Given the description of an element on the screen output the (x, y) to click on. 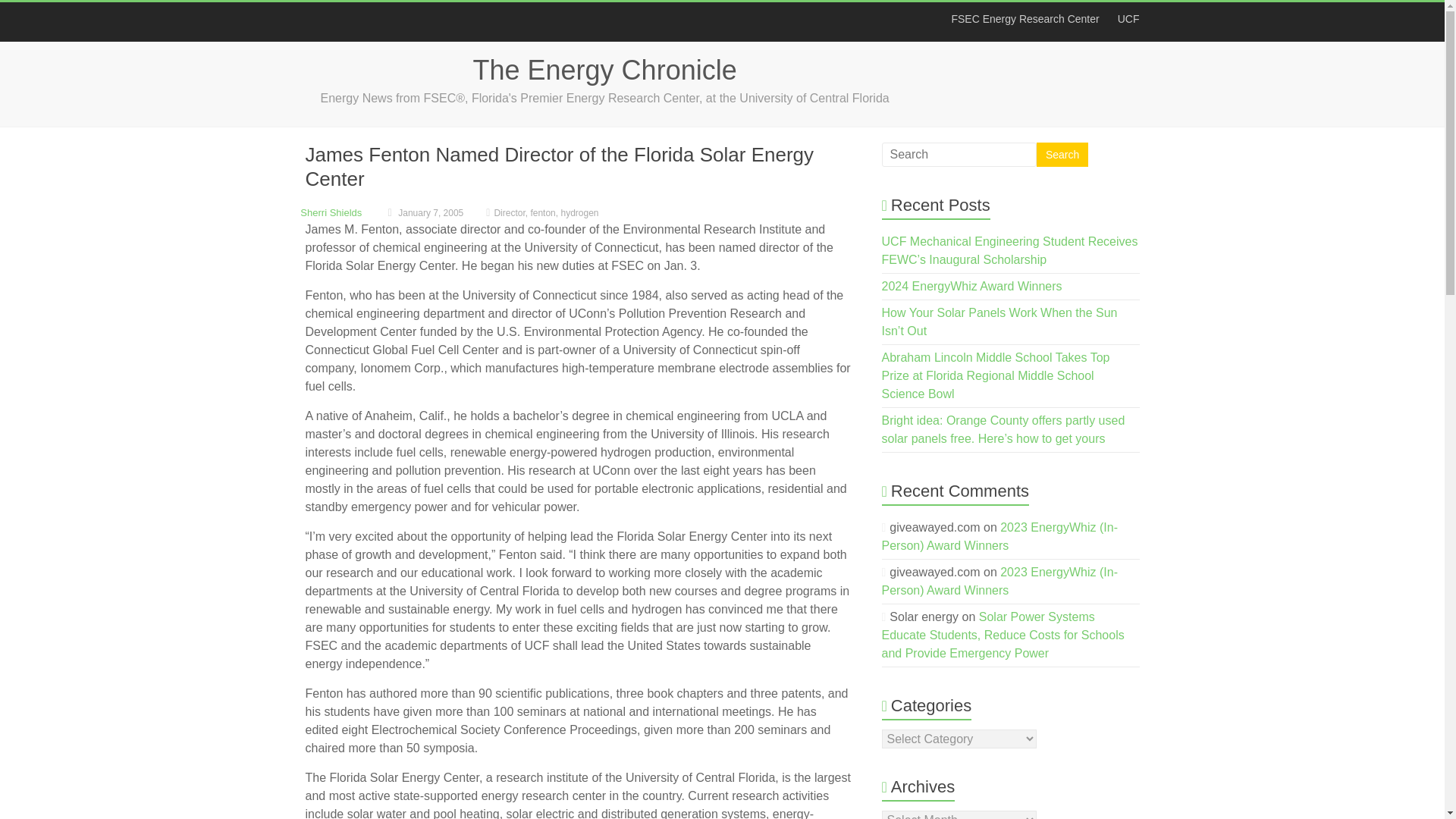
Director (508, 213)
2024 EnergyWhiz Award Winners (972, 286)
hydrogen (579, 213)
12:00 pm (424, 213)
fenton (541, 213)
Search (1061, 154)
FSEC Energy Research Center (1025, 18)
Sherri Shields (330, 212)
January 7, 2005 (424, 213)
Search (1061, 154)
